Given the description of an element on the screen output the (x, y) to click on. 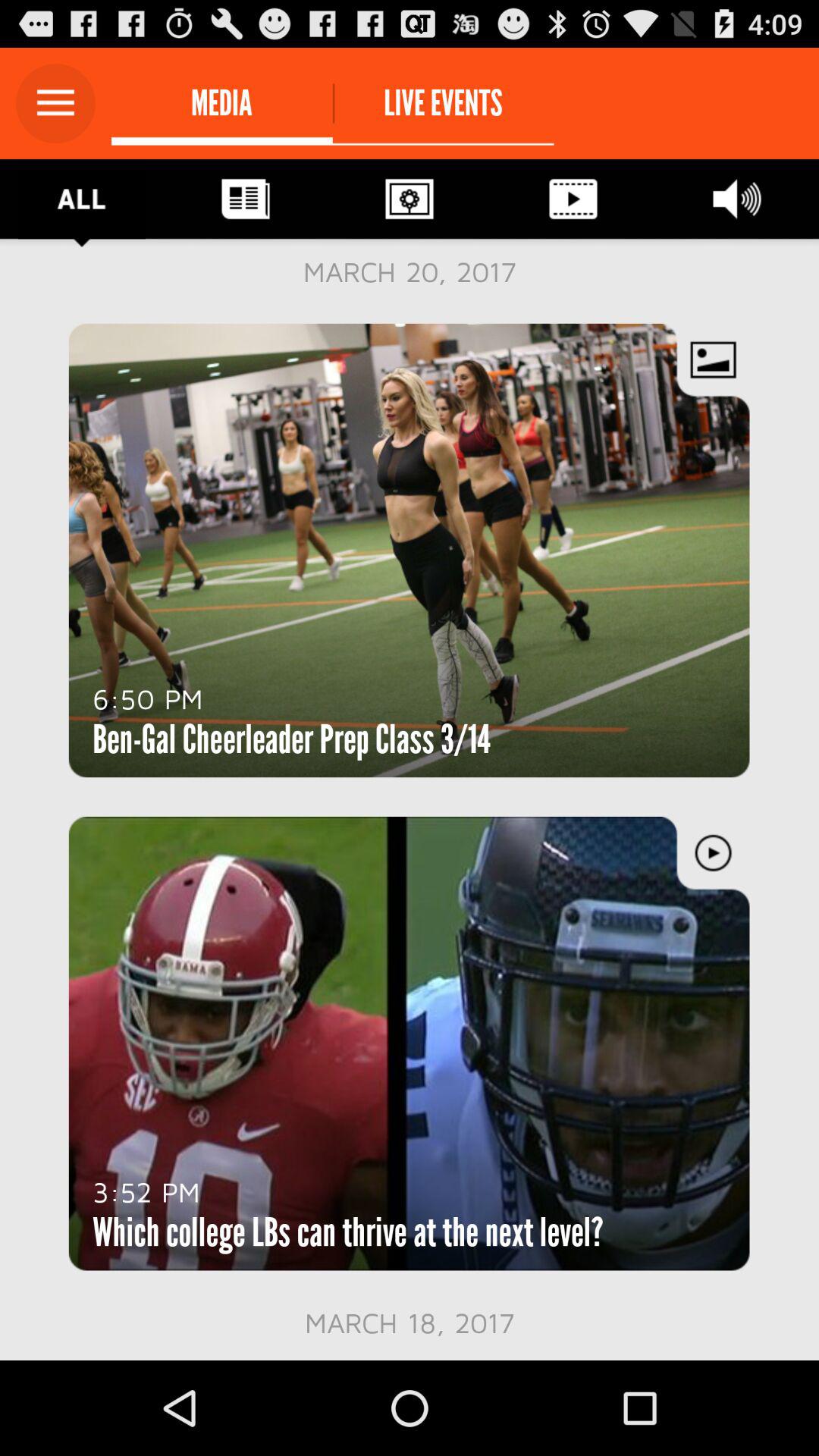
open item below the march 20, 2017 (147, 698)
